Given the description of an element on the screen output the (x, y) to click on. 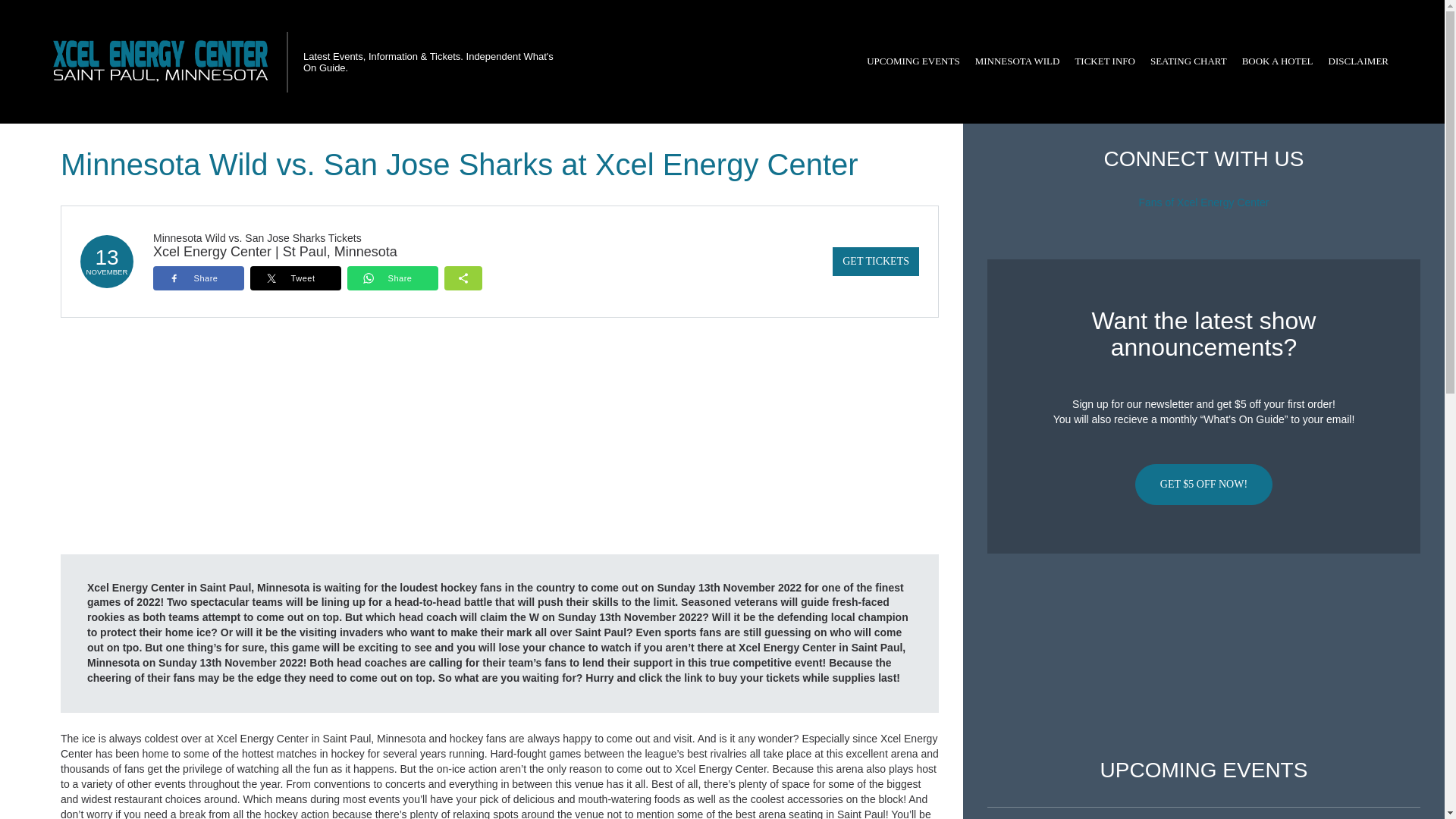
SEATING CHART (1188, 61)
UPCOMING EVENTS (912, 61)
Advertisement (1204, 655)
DISCLAIMER (1358, 61)
TICKET INFO (1104, 61)
Minnesota Wild vs. San Jose Sharks Tickets (256, 237)
GET TICKETS (875, 261)
BOOK A HOTEL (1277, 61)
Fans of Xcel Energy Center (1203, 202)
